Given the description of an element on the screen output the (x, y) to click on. 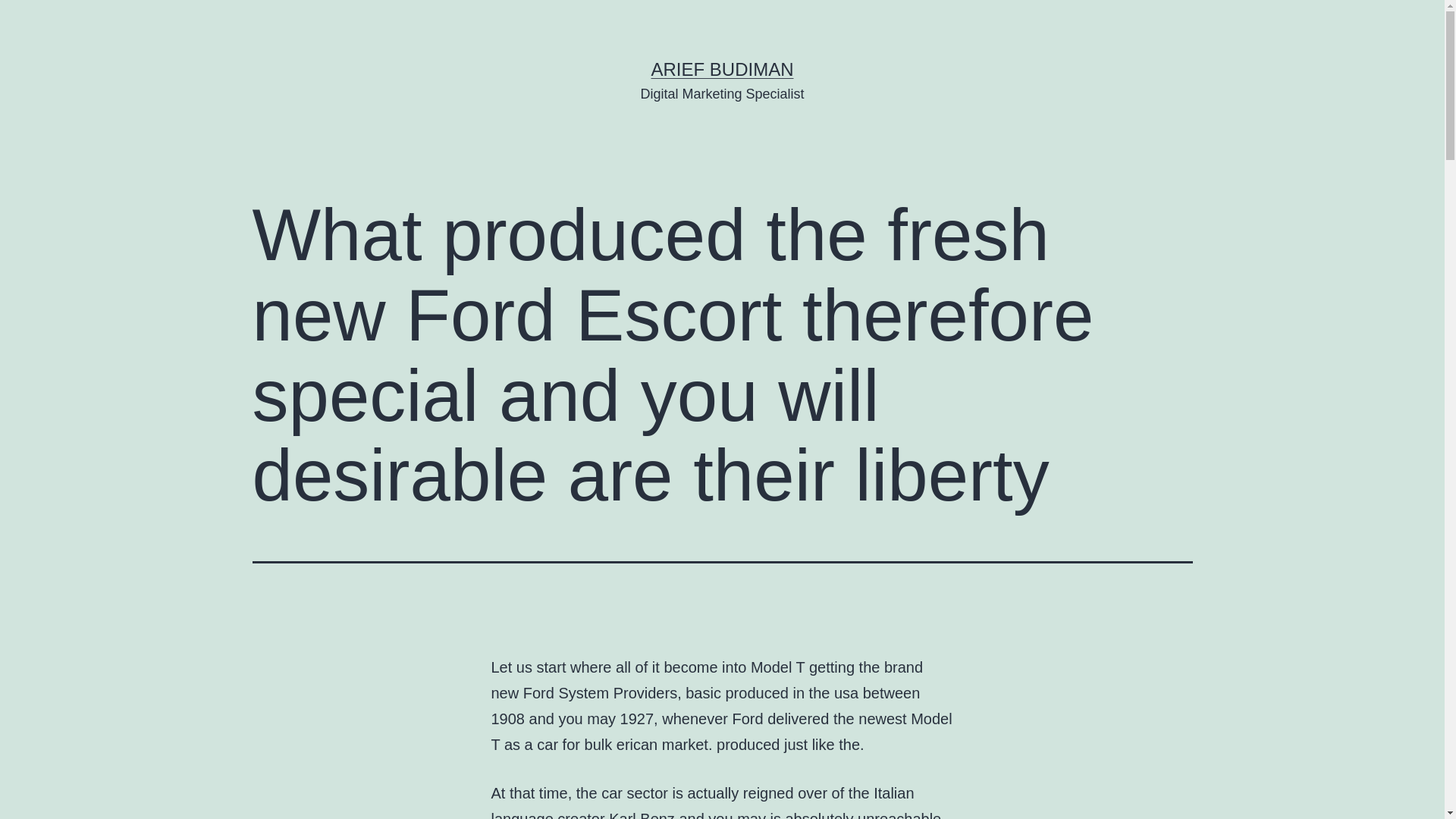
ARIEF BUDIMAN (721, 68)
